Given the description of an element on the screen output the (x, y) to click on. 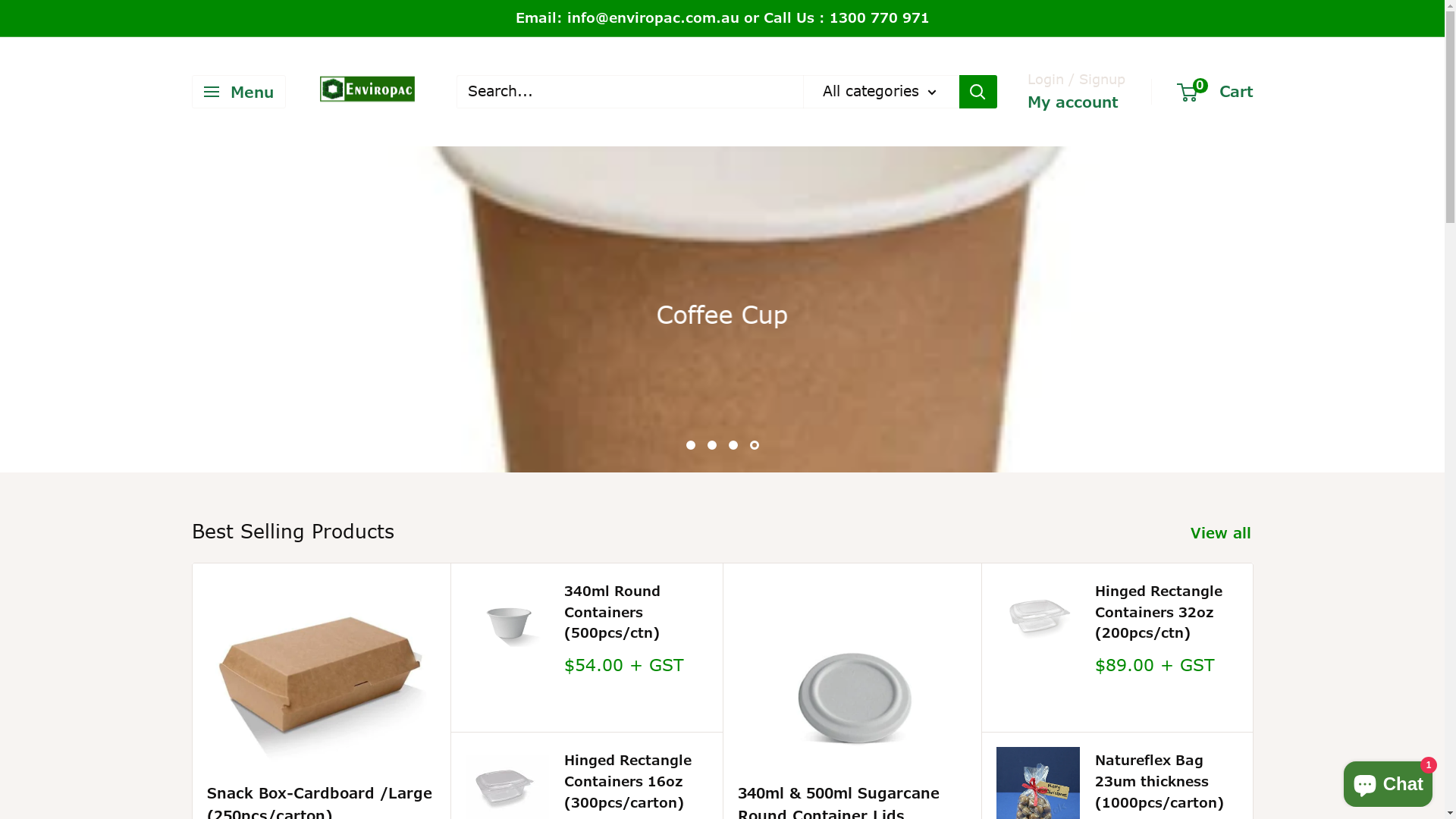
Shopify online store chat Element type: hover (1388, 780)
My account Element type: text (1071, 101)
Menu Element type: text (238, 91)
0
Cart Element type: text (1215, 91)
340ml Round Containers (500pcs/ctn) Element type: text (635, 612)
Hinged Rectangle Containers 16oz (300pcs/carton) Element type: text (635, 781)
Hinged Rectangle Containers 32oz (200pcs/ctn) Element type: text (1166, 612)
Natureflex Bag 23um thickness (1000pcs/carton) Element type: text (1166, 781)
Enviropac Element type: text (366, 91)
Email: info@enviropac.com.au or Call Us : 1300 770 971 Element type: text (722, 18)
View all Element type: text (1231, 533)
